Given the description of an element on the screen output the (x, y) to click on. 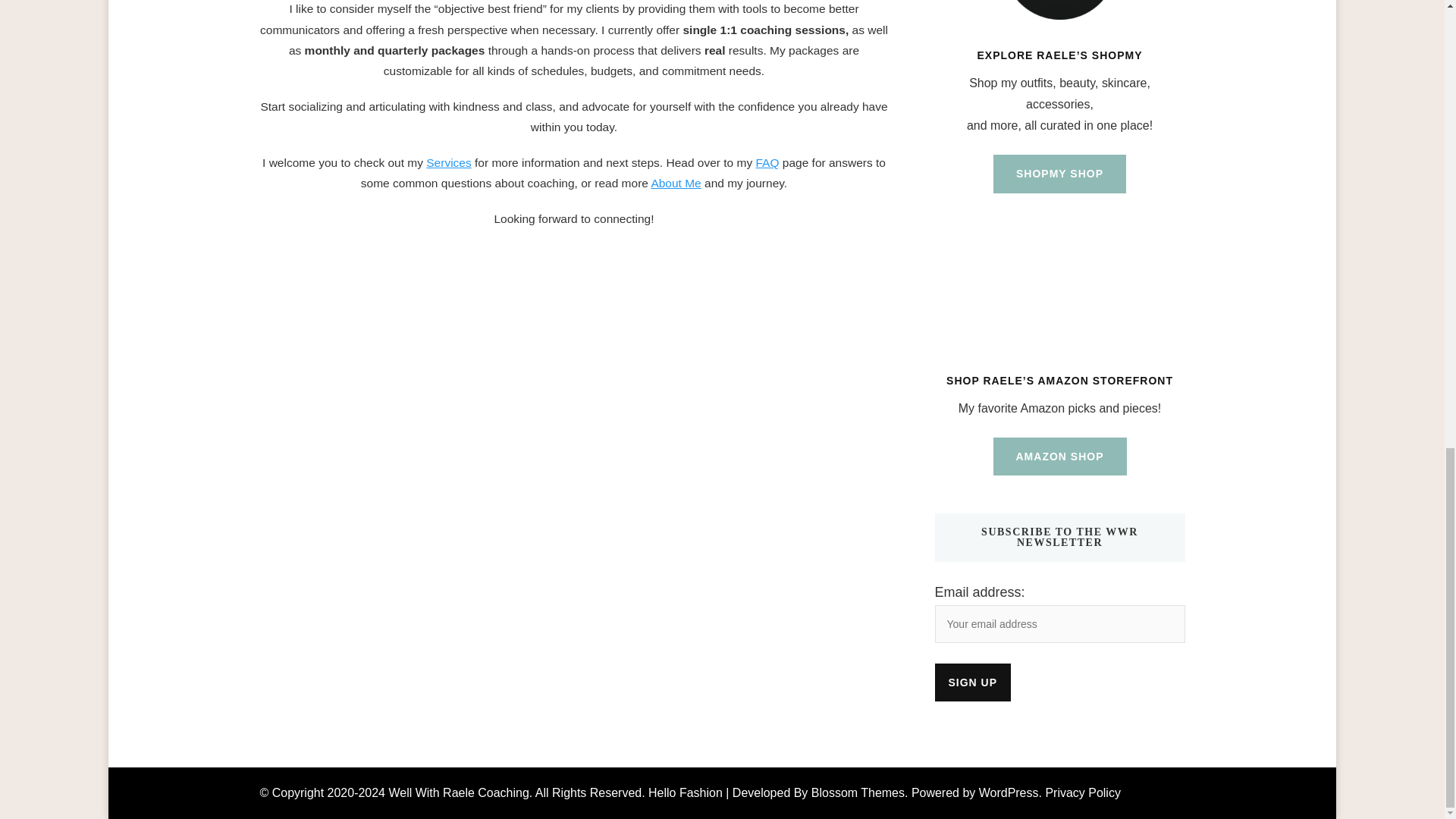
SHOPMY SHOP (1058, 173)
About Me (675, 182)
Sign up (972, 682)
Privacy Policy (1082, 792)
FAQ (766, 162)
Sign up (972, 682)
WordPress (1008, 792)
AMAZON SHOP (1059, 456)
Services (448, 162)
Blossom Themes (857, 792)
